Given the description of an element on the screen output the (x, y) to click on. 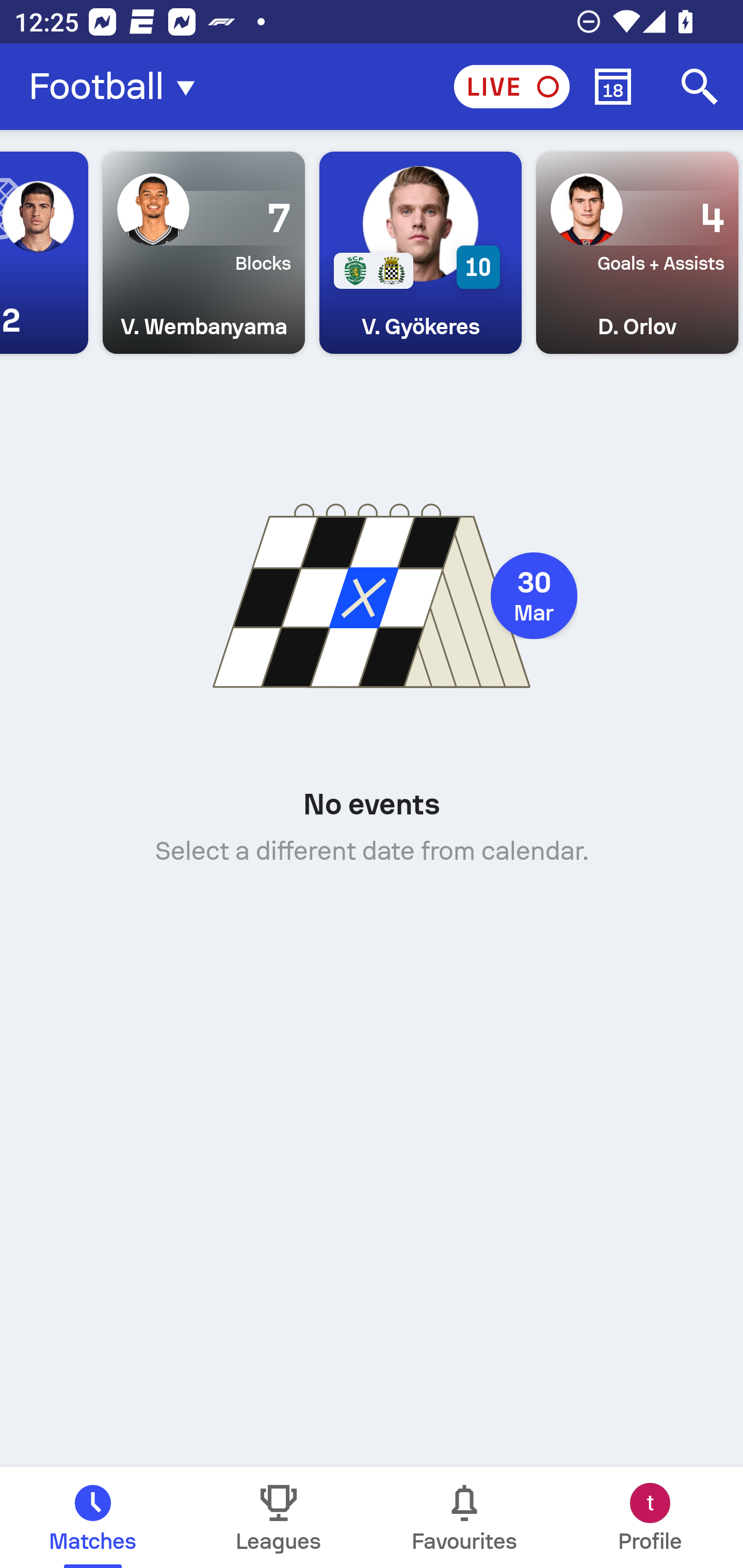
Football (117, 86)
Calendar (612, 86)
Search (699, 86)
0 - 2 (44, 253)
10 V. Gyökeres (420, 253)
30 Mar (533, 595)
Leagues (278, 1517)
Favourites (464, 1517)
Profile (650, 1517)
